Given the description of an element on the screen output the (x, y) to click on. 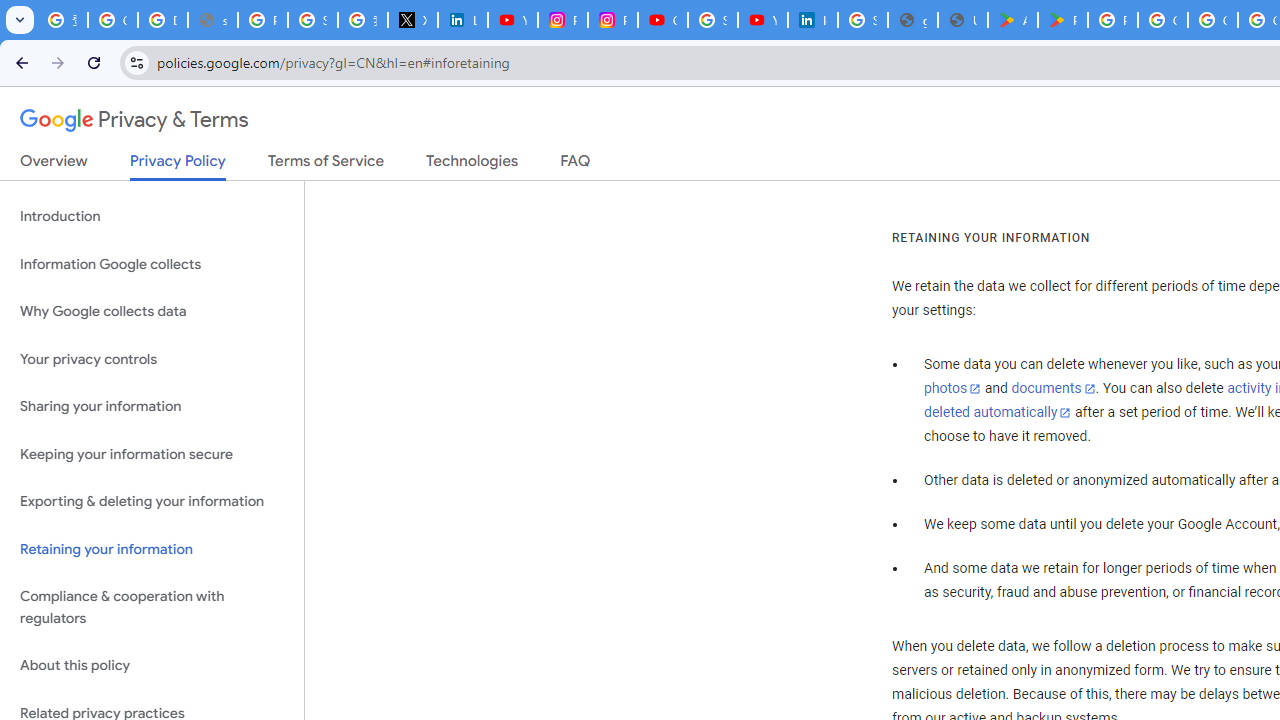
X (412, 20)
